Given the description of an element on the screen output the (x, y) to click on. 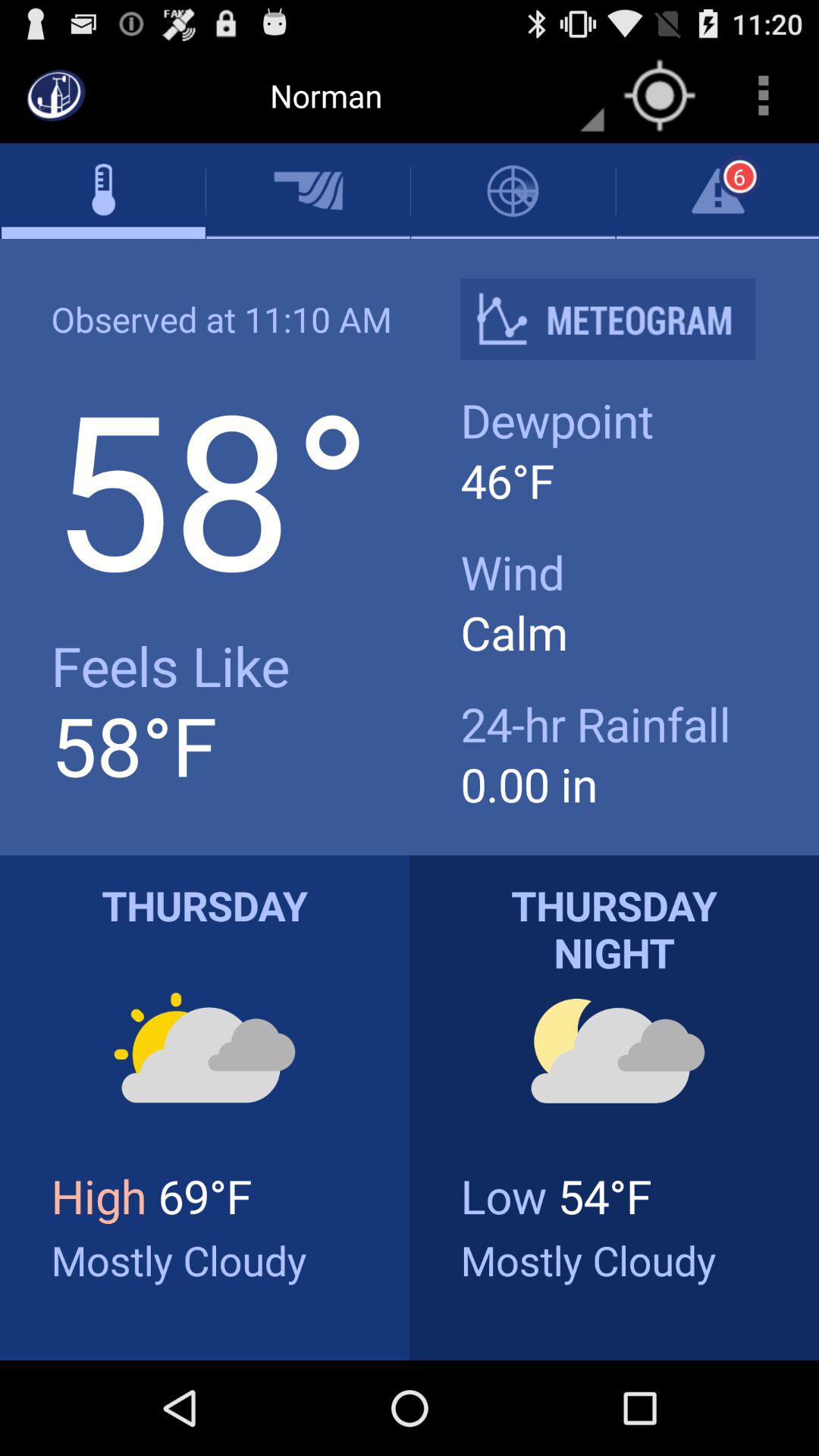
view the map (659, 95)
